Given the description of an element on the screen output the (x, y) to click on. 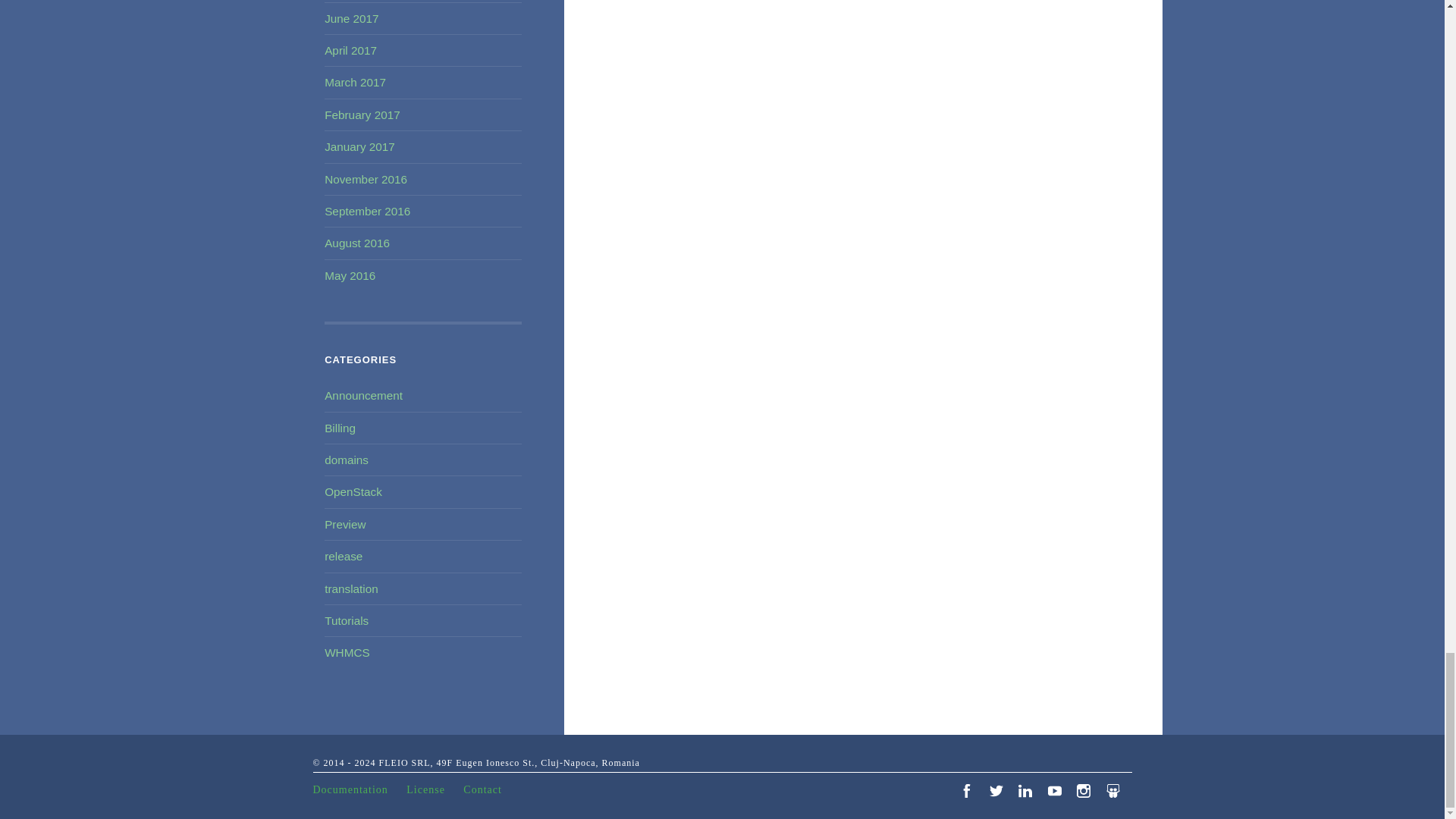
Documentation (358, 789)
Contact (489, 789)
License (433, 789)
